Given the description of an element on the screen output the (x, y) to click on. 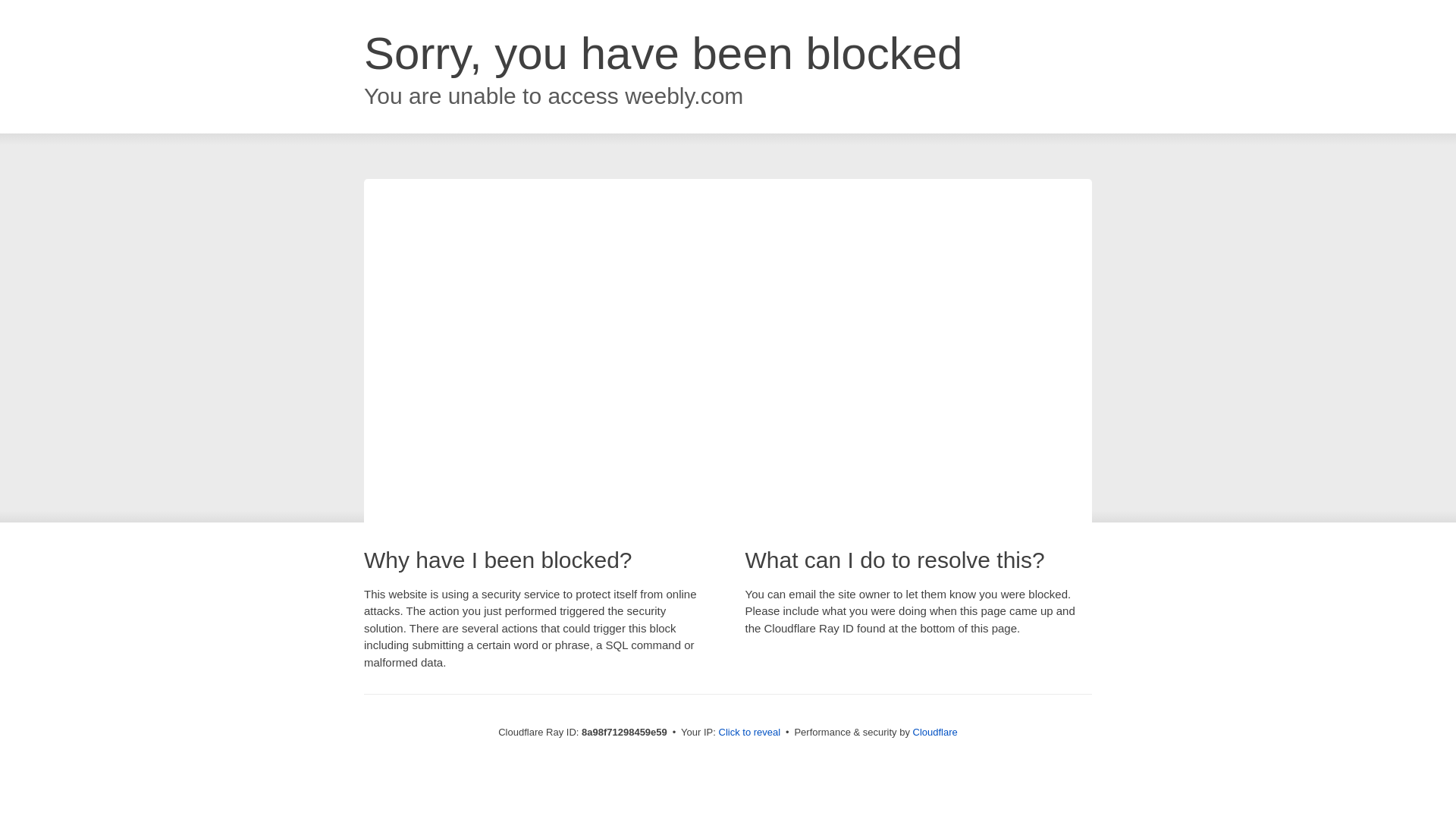
Cloudflare (935, 731)
Click to reveal (749, 732)
